Given the description of an element on the screen output the (x, y) to click on. 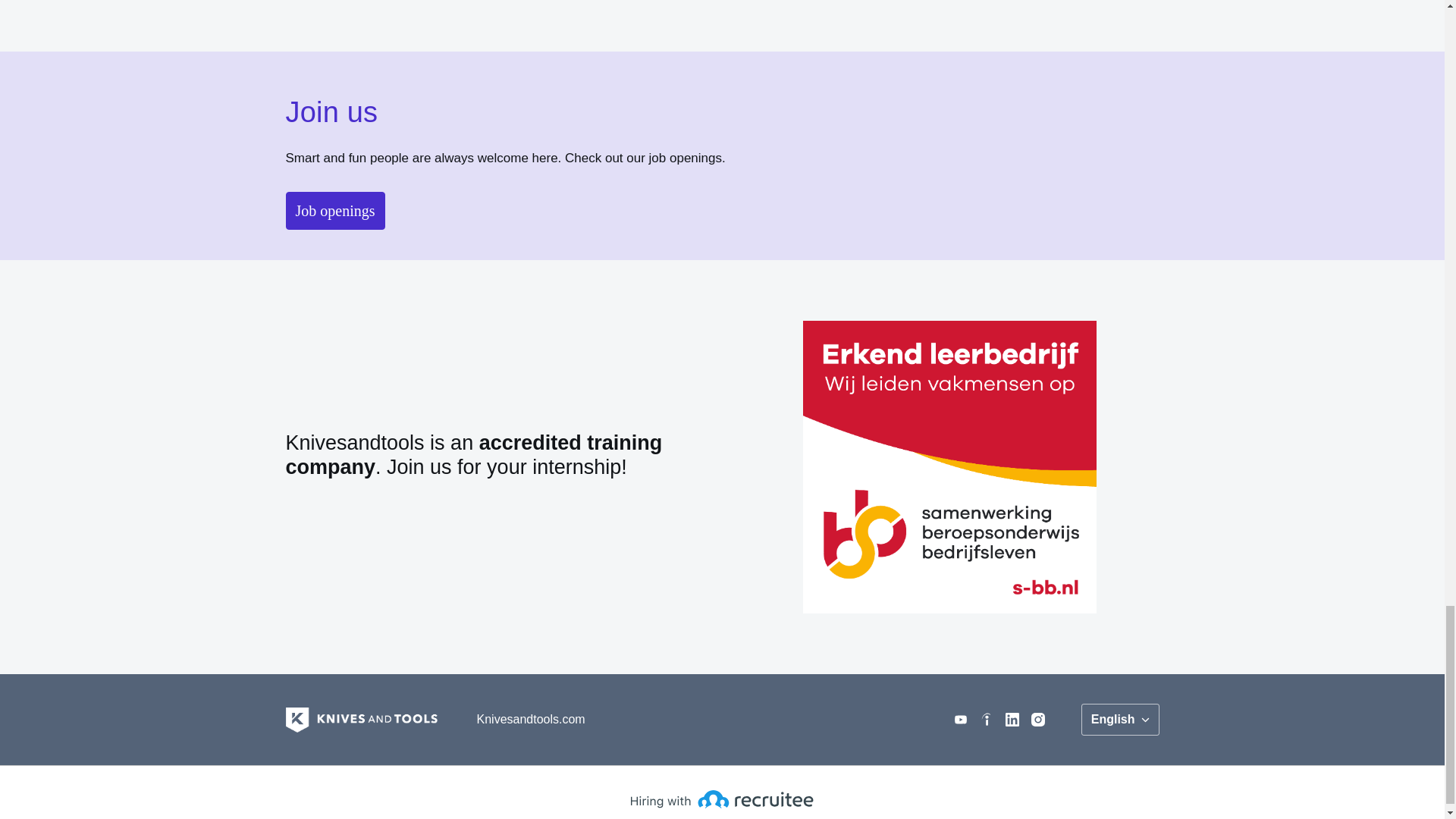
instagram (1038, 719)
English (1119, 719)
Job openings (334, 210)
linkedin (1011, 719)
indeed (986, 719)
Homepage (360, 719)
Knivesandtools.com (530, 719)
youtube (960, 719)
